Given the description of an element on the screen output the (x, y) to click on. 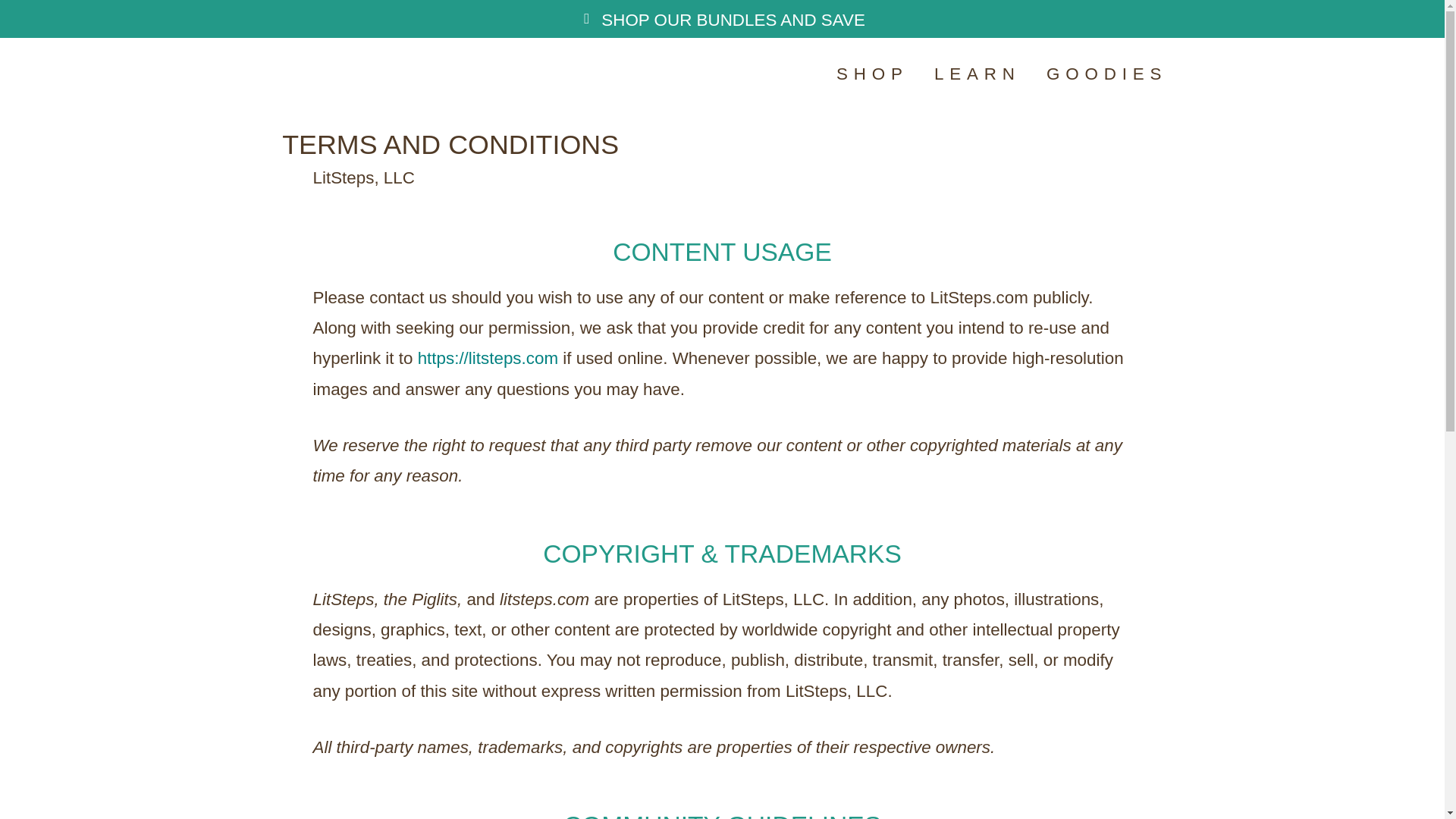
litsteps,llc (487, 357)
GOODIES (722, 73)
SHOP (1103, 73)
LEARN (869, 73)
SHOP OUR BUNDLES AND SAVE (974, 73)
